Given the description of an element on the screen output the (x, y) to click on. 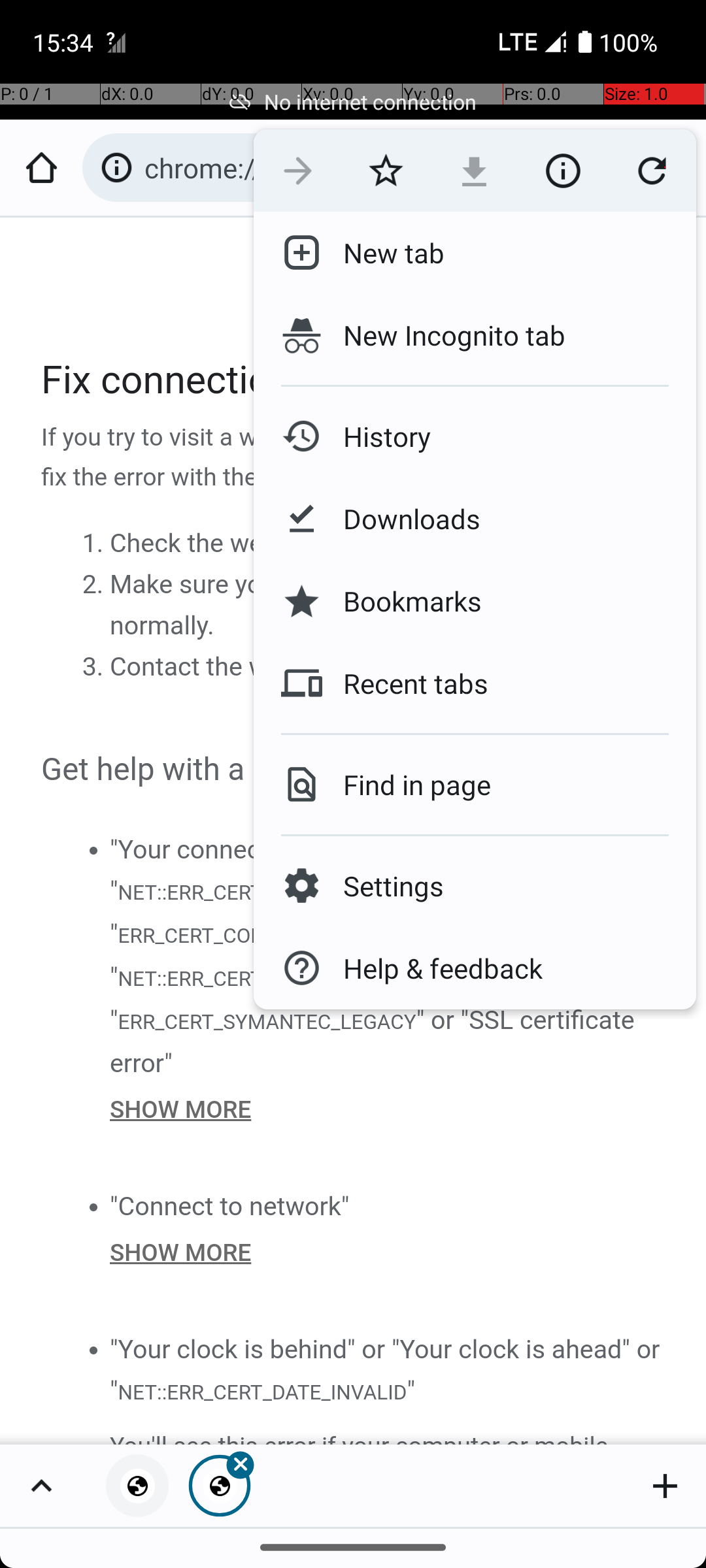
Forward Element type: android.widget.ImageButton (297, 170)
Bookmark Element type: android.widget.ImageButton (385, 170)
Page info Element type: android.widget.ImageButton (562, 170)
Refresh Element type: android.widget.ImageButton (651, 170)
Bookmarks Element type: android.widget.TextView (401, 600)
Recent tabs Element type: android.widget.TextView (405, 683)
Find in page Element type: android.widget.TextView (406, 784)
